Given the description of an element on the screen output the (x, y) to click on. 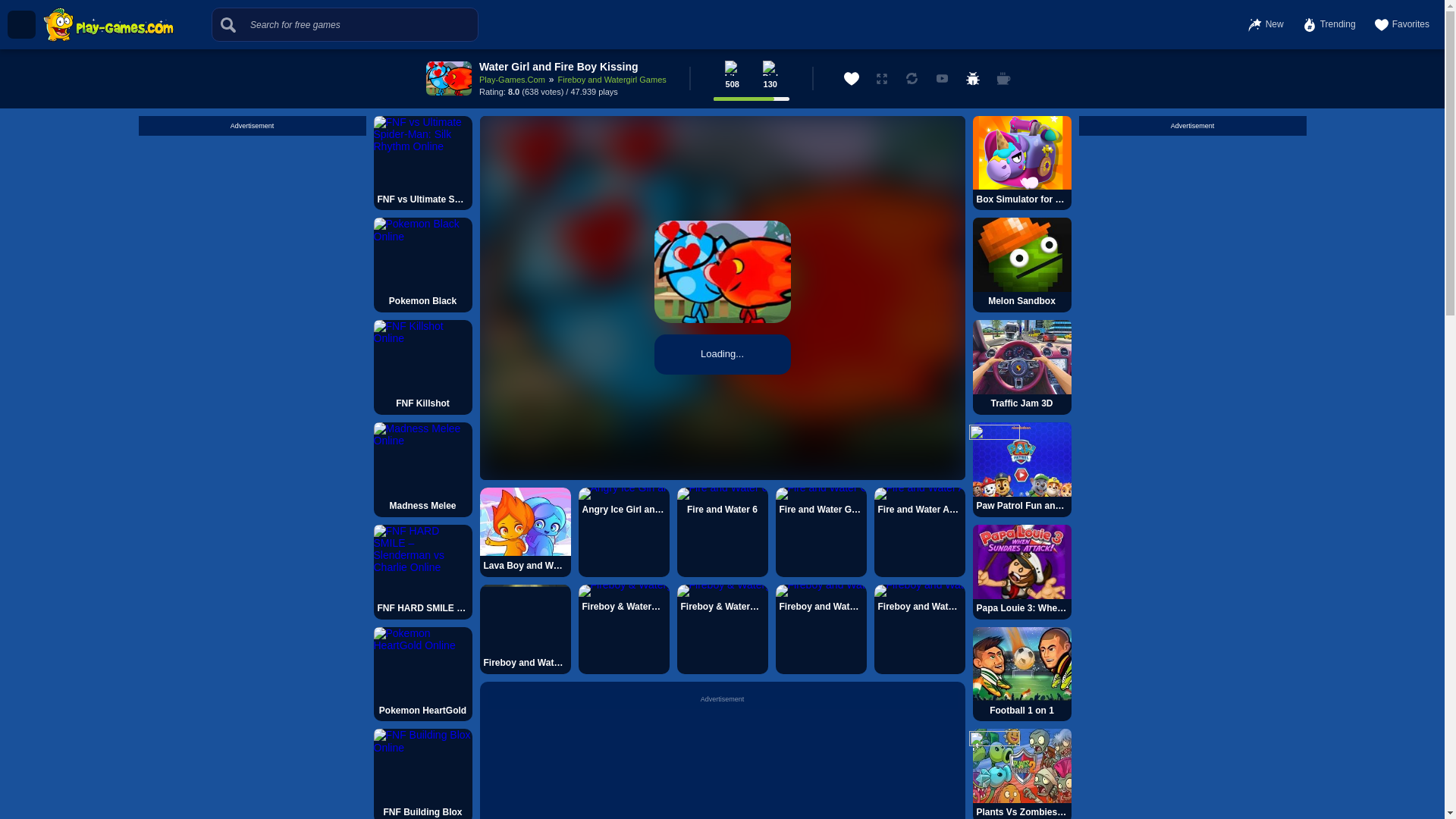
New (1265, 24)
Play-Games.Com (511, 79)
Show Game Library (20, 24)
Trending (1328, 24)
Play Games Online (108, 24)
Fireboy and Watergirl Games (611, 79)
Favorites (1402, 24)
